Given the description of an element on the screen output the (x, y) to click on. 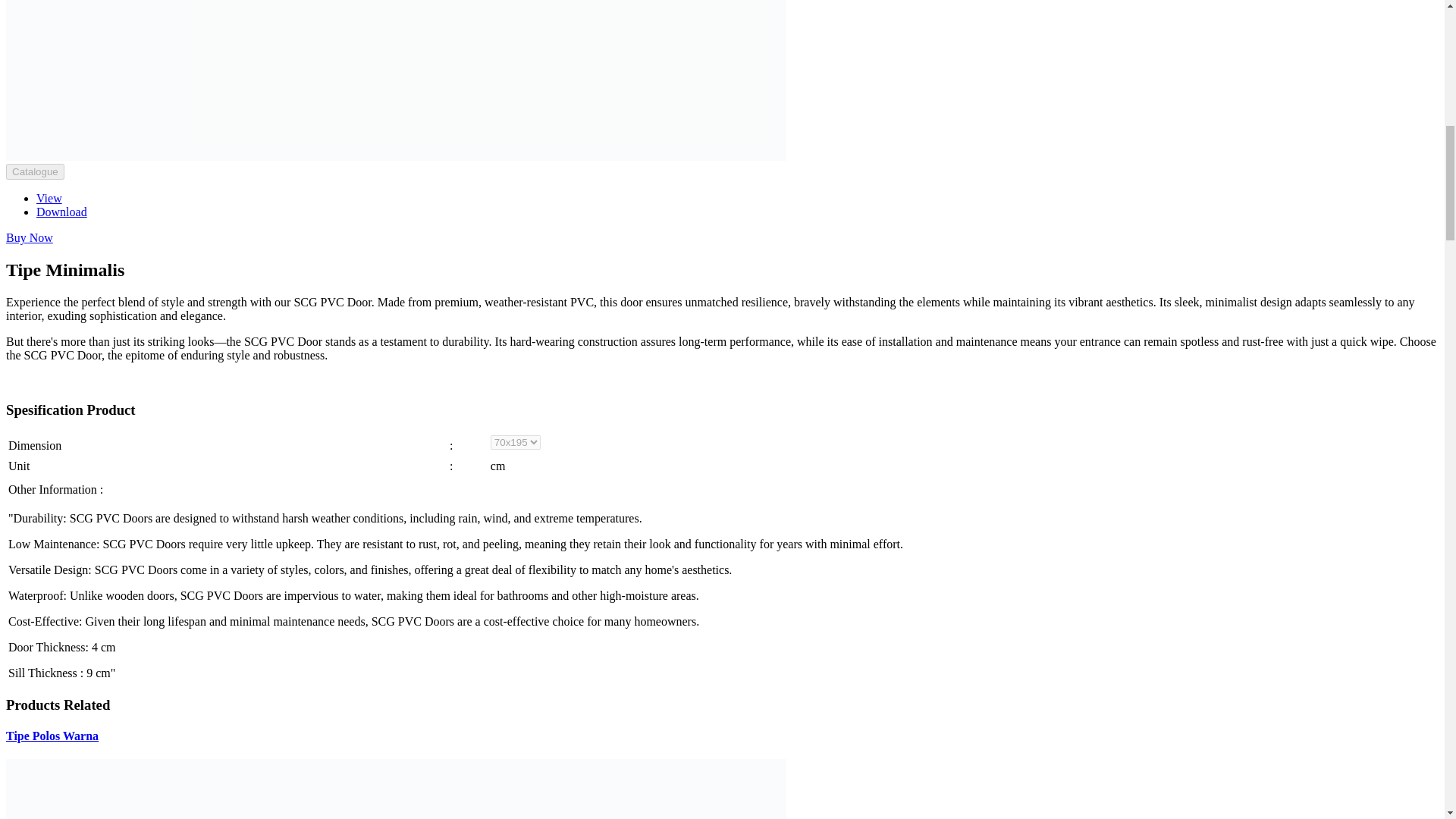
Download (61, 211)
Catalogue (34, 171)
Buy Now (28, 237)
View (49, 197)
Tipe Polos Warna (52, 735)
